Given the description of an element on the screen output the (x, y) to click on. 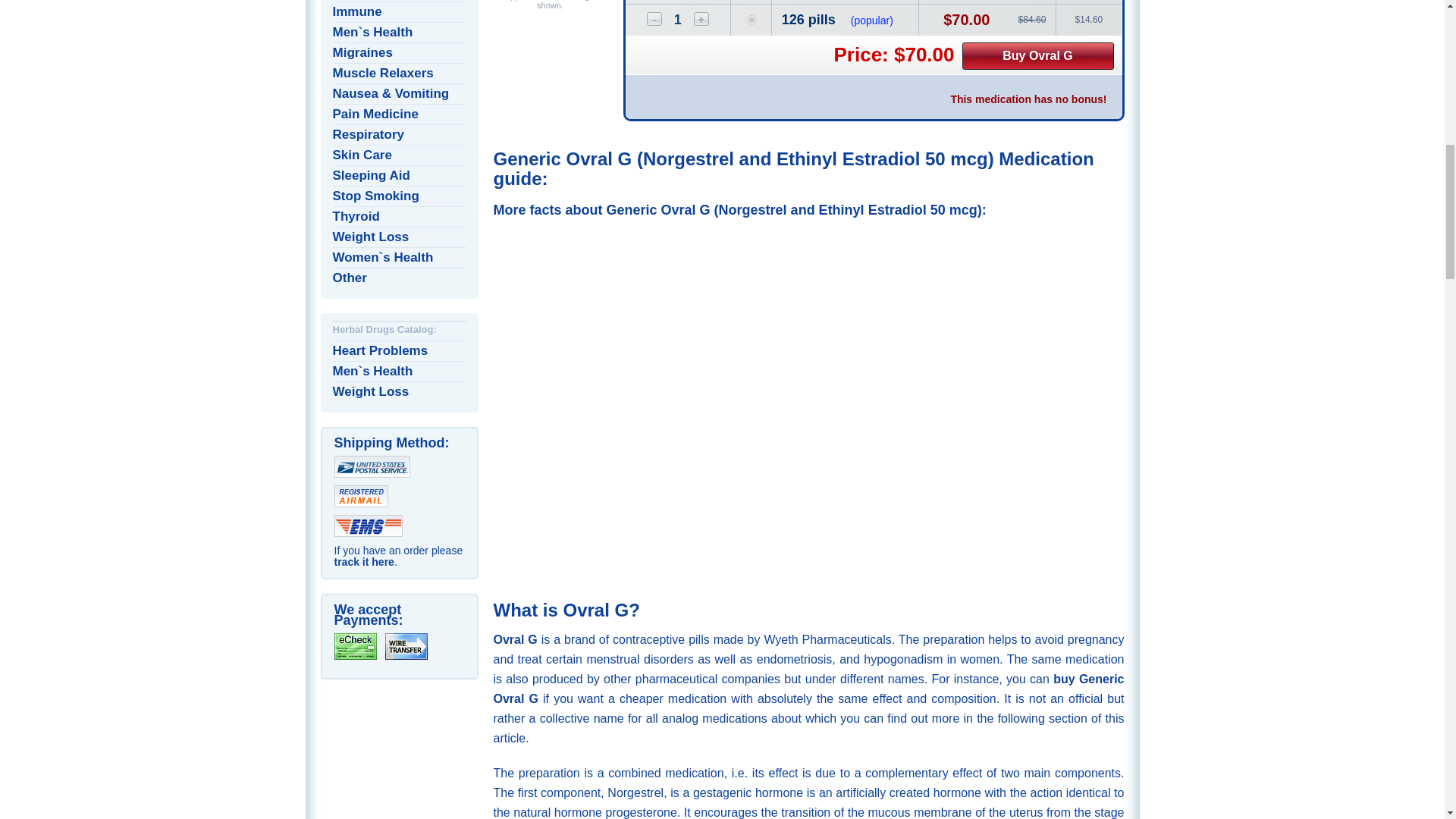
Fast delivery of drugs via EMS (367, 526)
2325 (751, 20)
Free shipping smart drugs with Registered Air Mail (360, 495)
Immune (398, 11)
Hormones (398, 0)
